Given the description of an element on the screen output the (x, y) to click on. 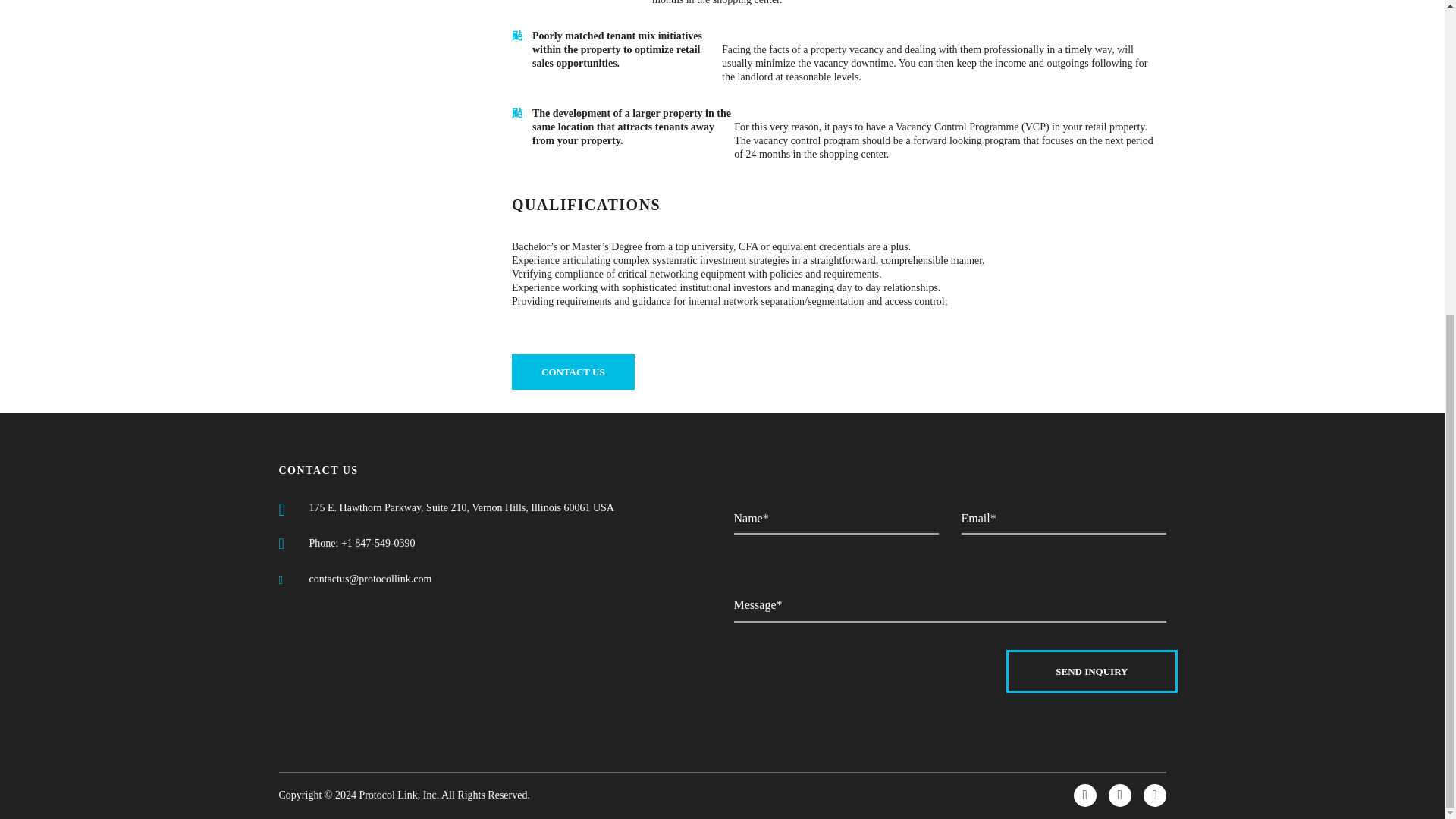
CONTACT US (573, 371)
SEND INQUIRY (1091, 671)
Contact Us (573, 371)
